Given the description of an element on the screen output the (x, y) to click on. 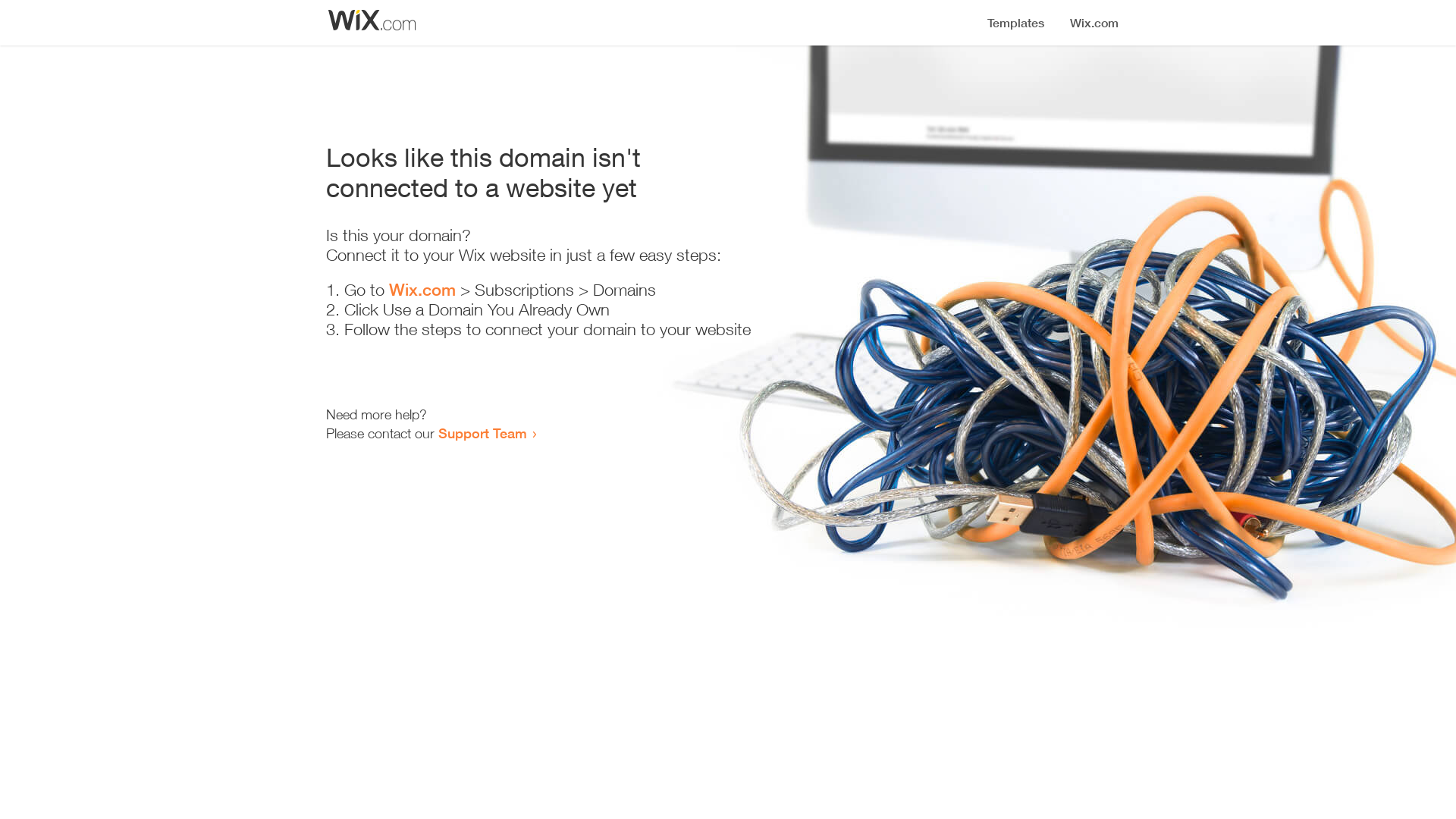
Support Team Element type: text (482, 432)
Wix.com Element type: text (422, 289)
